Given the description of an element on the screen output the (x, y) to click on. 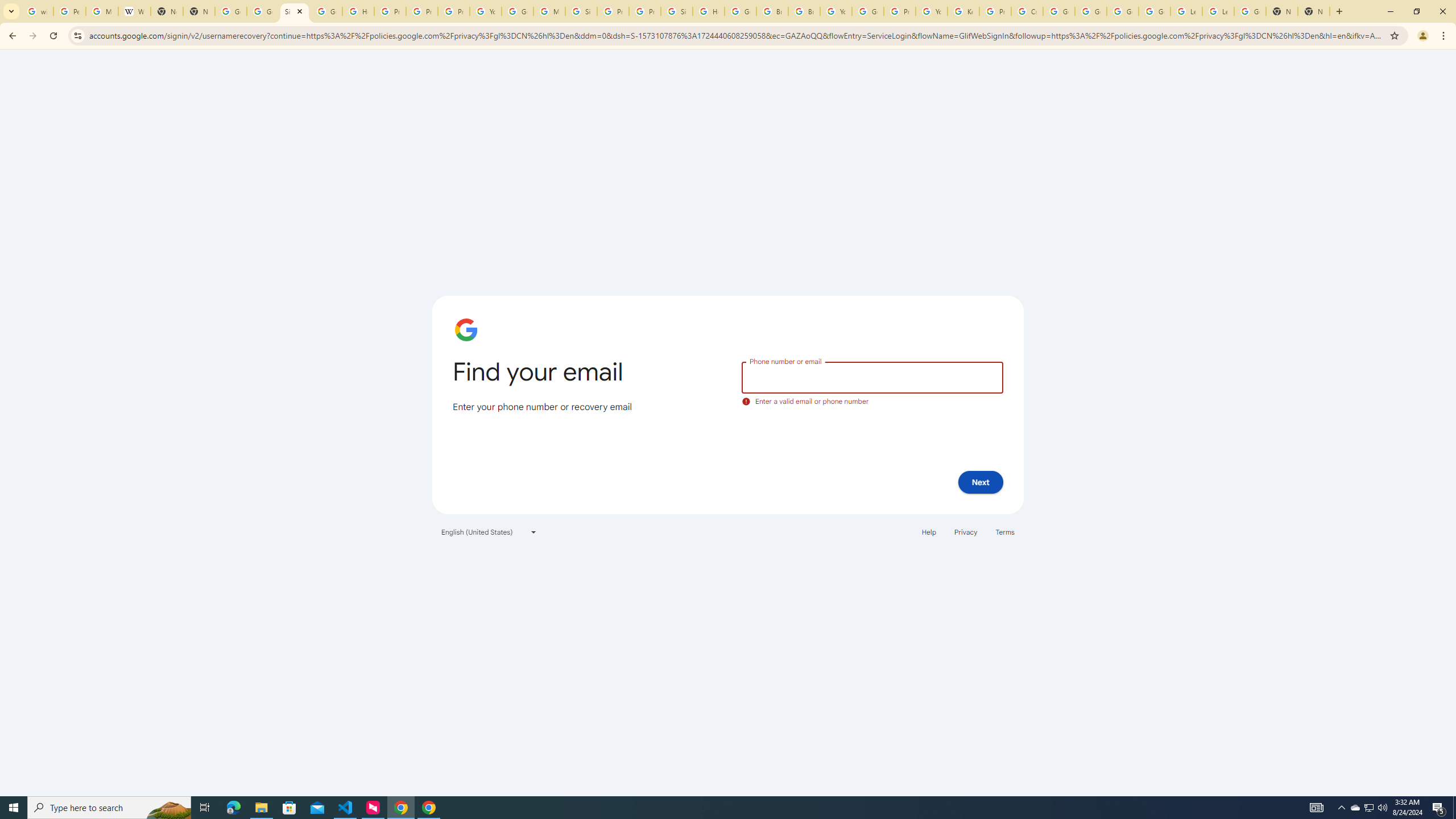
Google Account Help (1059, 11)
Create your Google Account (1027, 11)
